Given the description of an element on the screen output the (x, y) to click on. 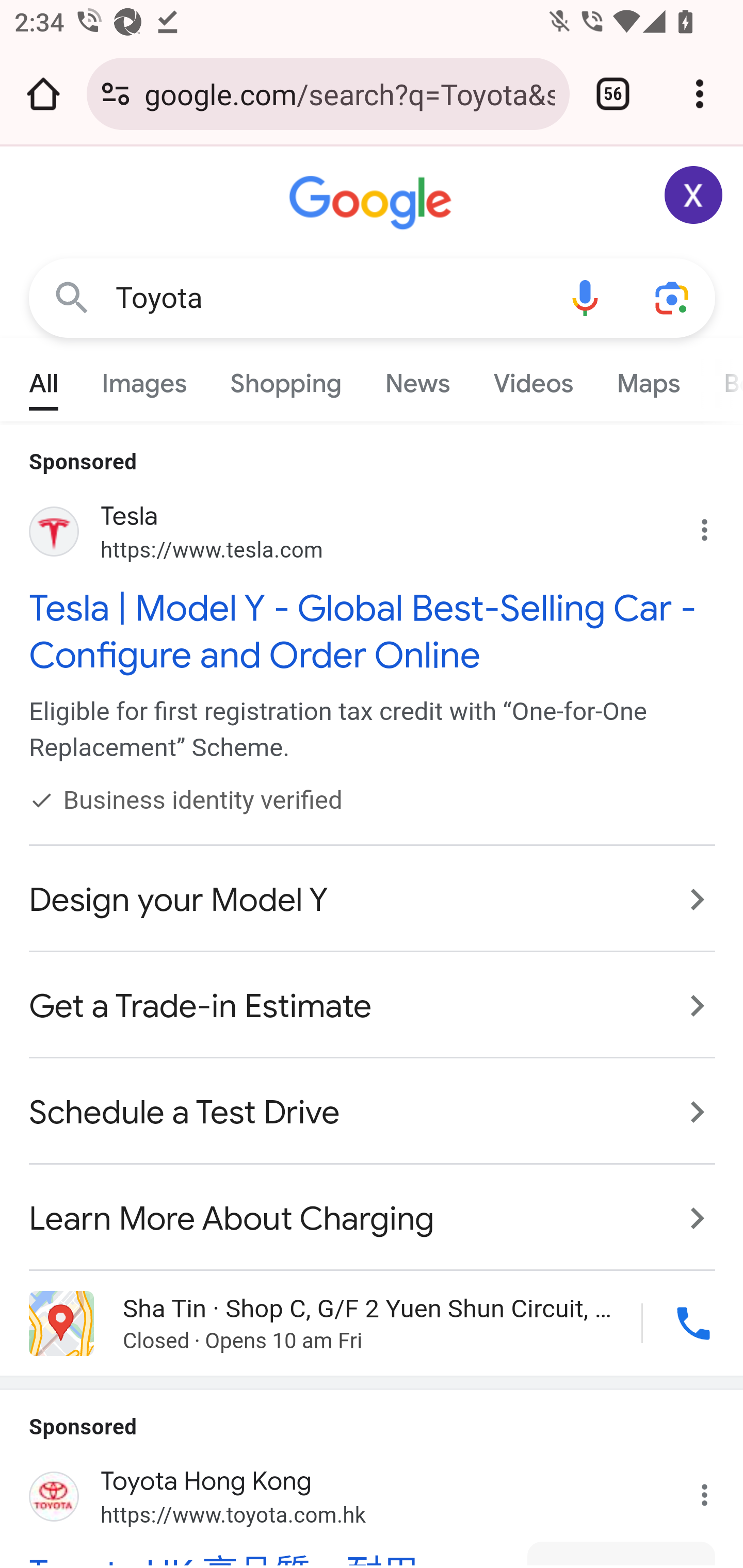
Open the home page (43, 93)
Connection is secure (115, 93)
Switch or close tabs (612, 93)
Customize and control Google Chrome (699, 93)
Google (372, 203)
Google Account: Xiaoran (zxrappiumtest@gmail.com) (694, 195)
Google Search (71, 296)
Search using your camera or photos (672, 296)
Toyota (328, 297)
Images (144, 378)
Shopping (285, 378)
News (417, 378)
Videos (533, 378)
Maps (647, 378)
Why this ad? (714, 525)
Design your Model Y (372, 899)
Get a Trade-in Estimate (372, 1006)
Schedule a Test Drive (372, 1112)
Learn More About Charging (372, 1208)
Why this ad? (714, 1488)
